Given the description of an element on the screen output the (x, y) to click on. 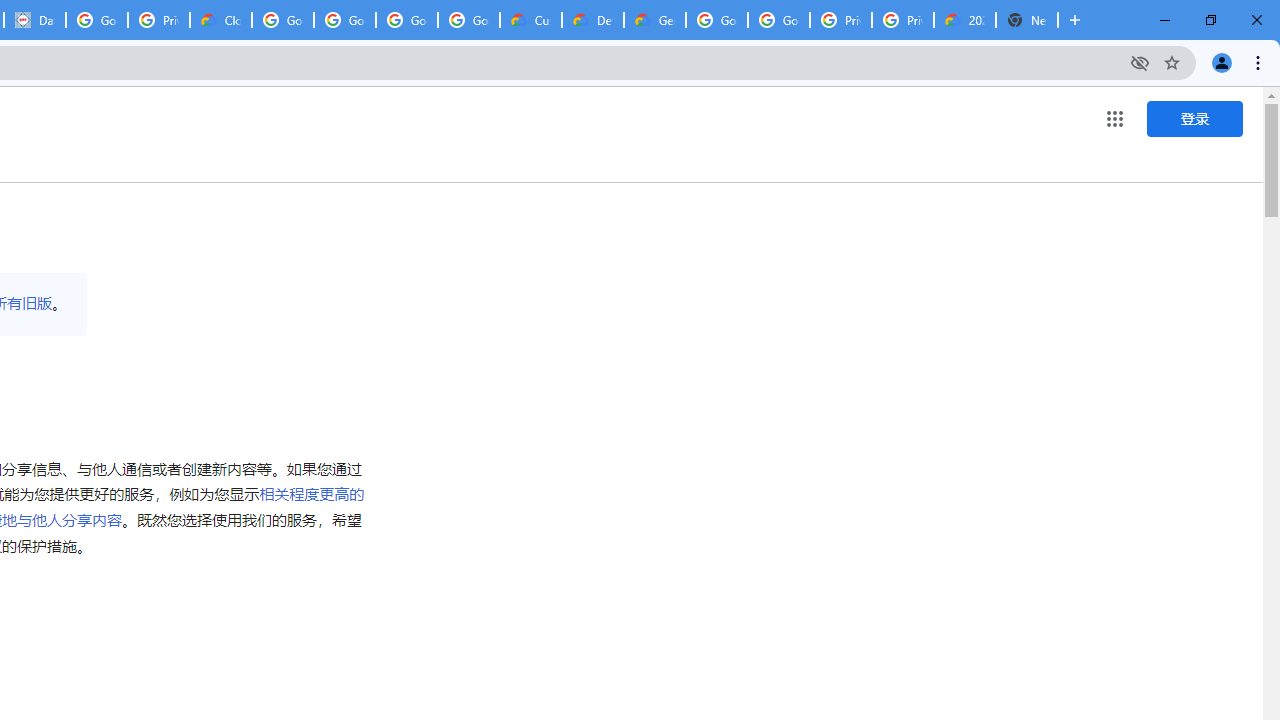
New Tab (1026, 20)
Google Cloud Platform (778, 20)
Cloud Data Processing Addendum | Google Cloud (220, 20)
Google Workspace - Specific Terms (468, 20)
Gemini for Business and Developers | Google Cloud (654, 20)
